Given the description of an element on the screen output the (x, y) to click on. 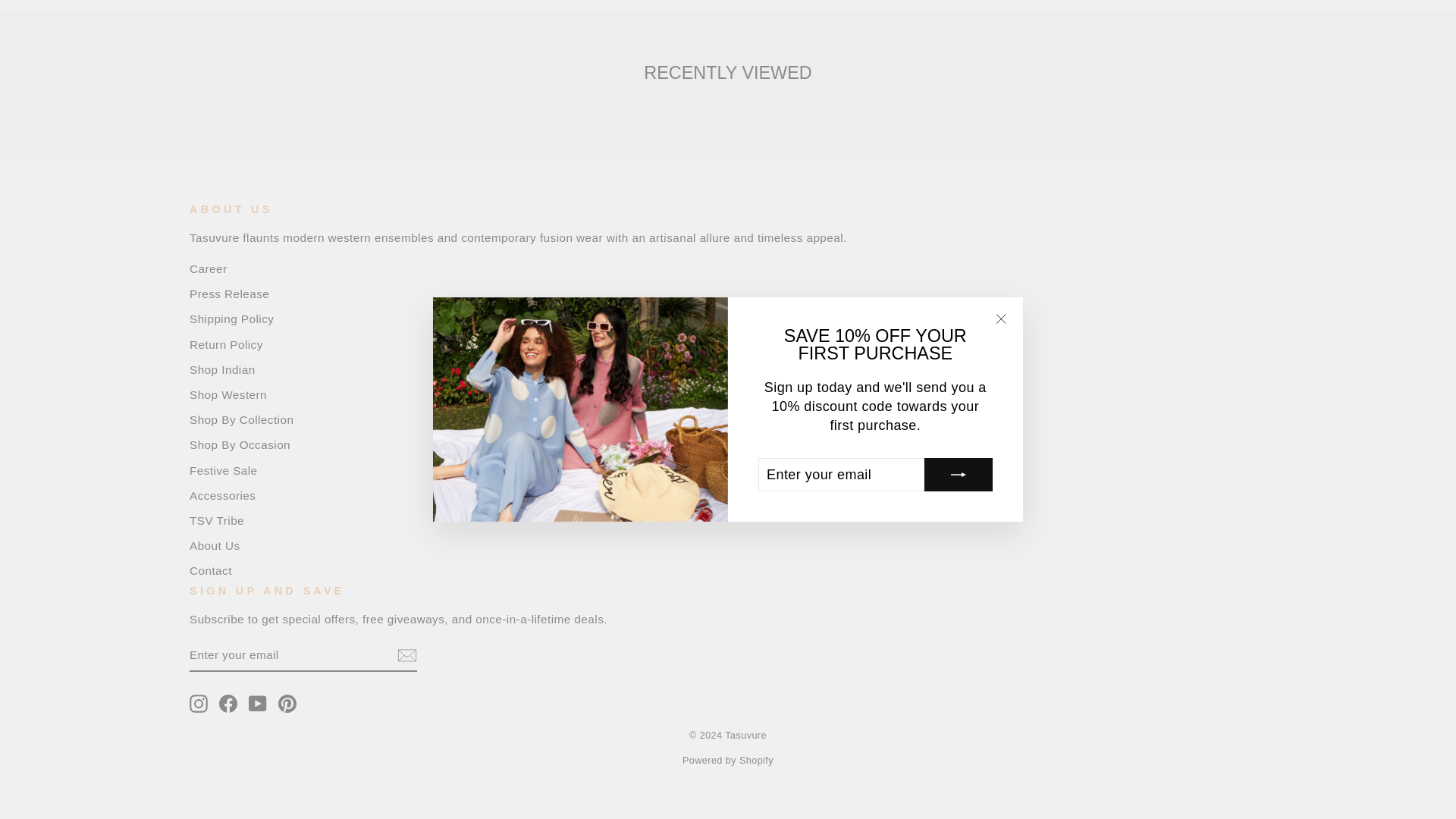
Tasuvure on Instagram (198, 703)
